Given the description of an element on the screen output the (x, y) to click on. 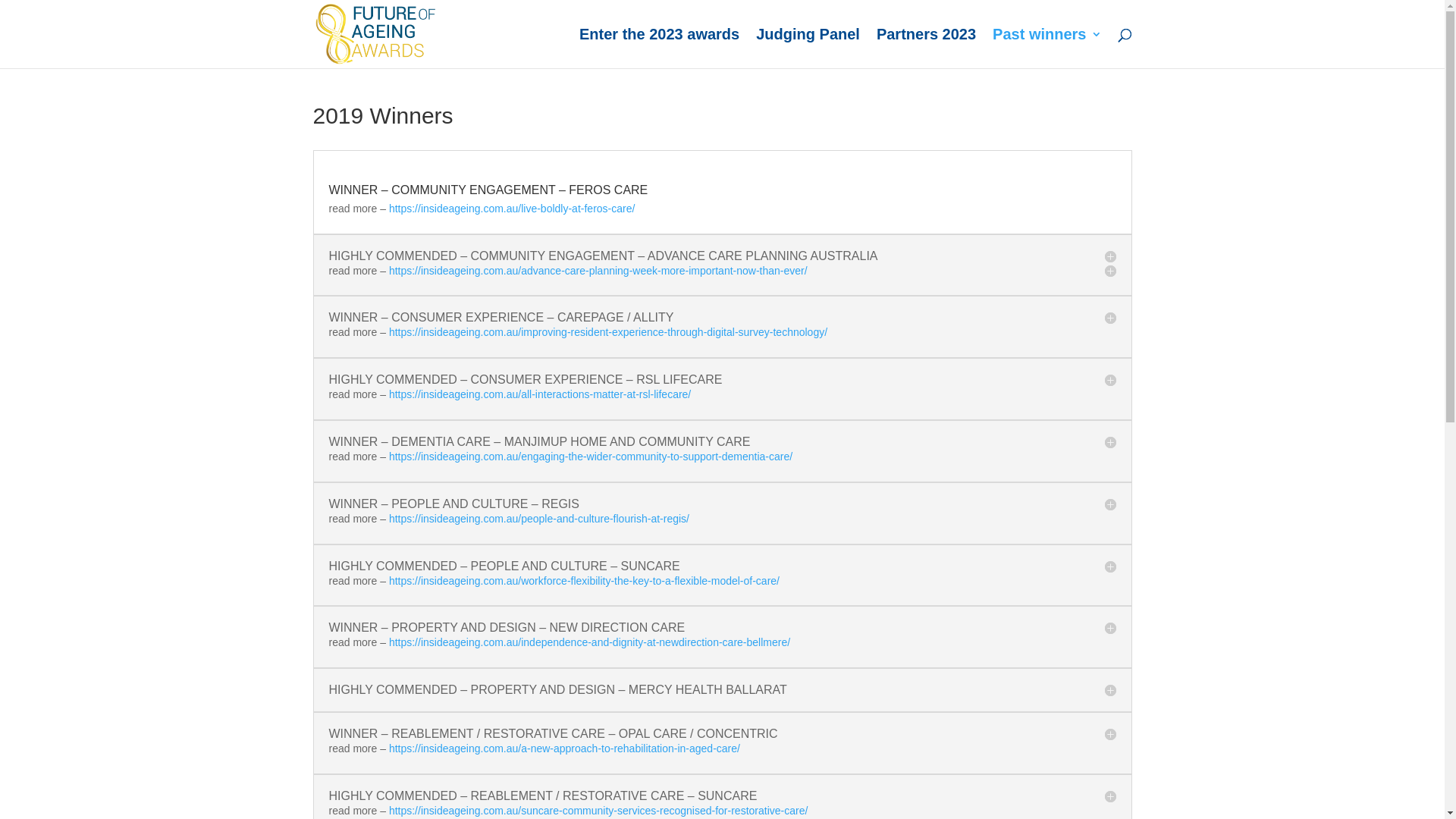
Judging Panel Element type: text (807, 48)
Partners 2023 Element type: text (925, 48)
Enter the 2023 awards Element type: text (659, 48)
Past winners Element type: text (1046, 48)
https://insideageing.com.au/live-boldly-at-feros-care/ Element type: text (512, 208)
